Given the description of an element on the screen output the (x, y) to click on. 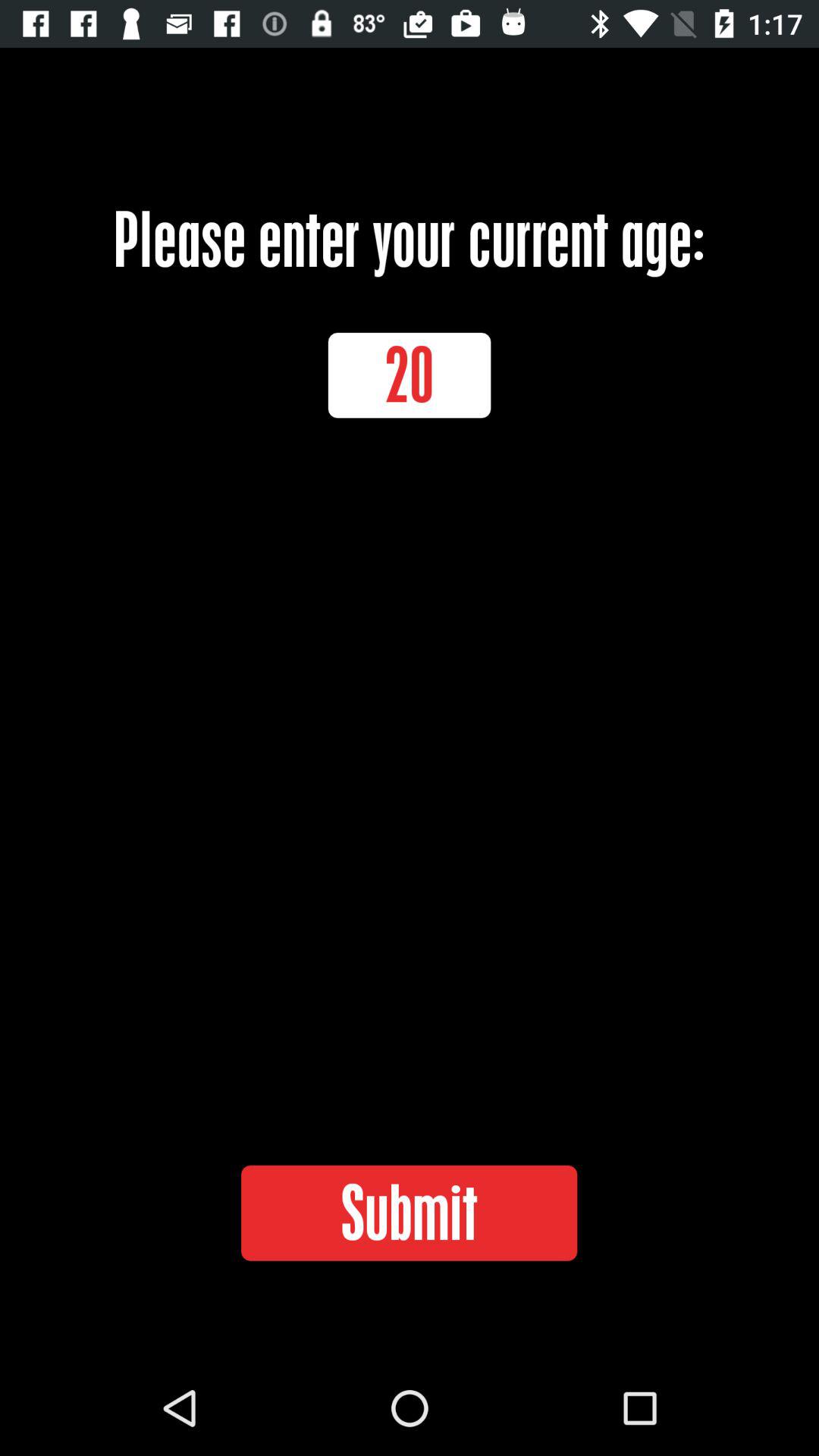
choose 20 icon (409, 375)
